Given the description of an element on the screen output the (x, y) to click on. 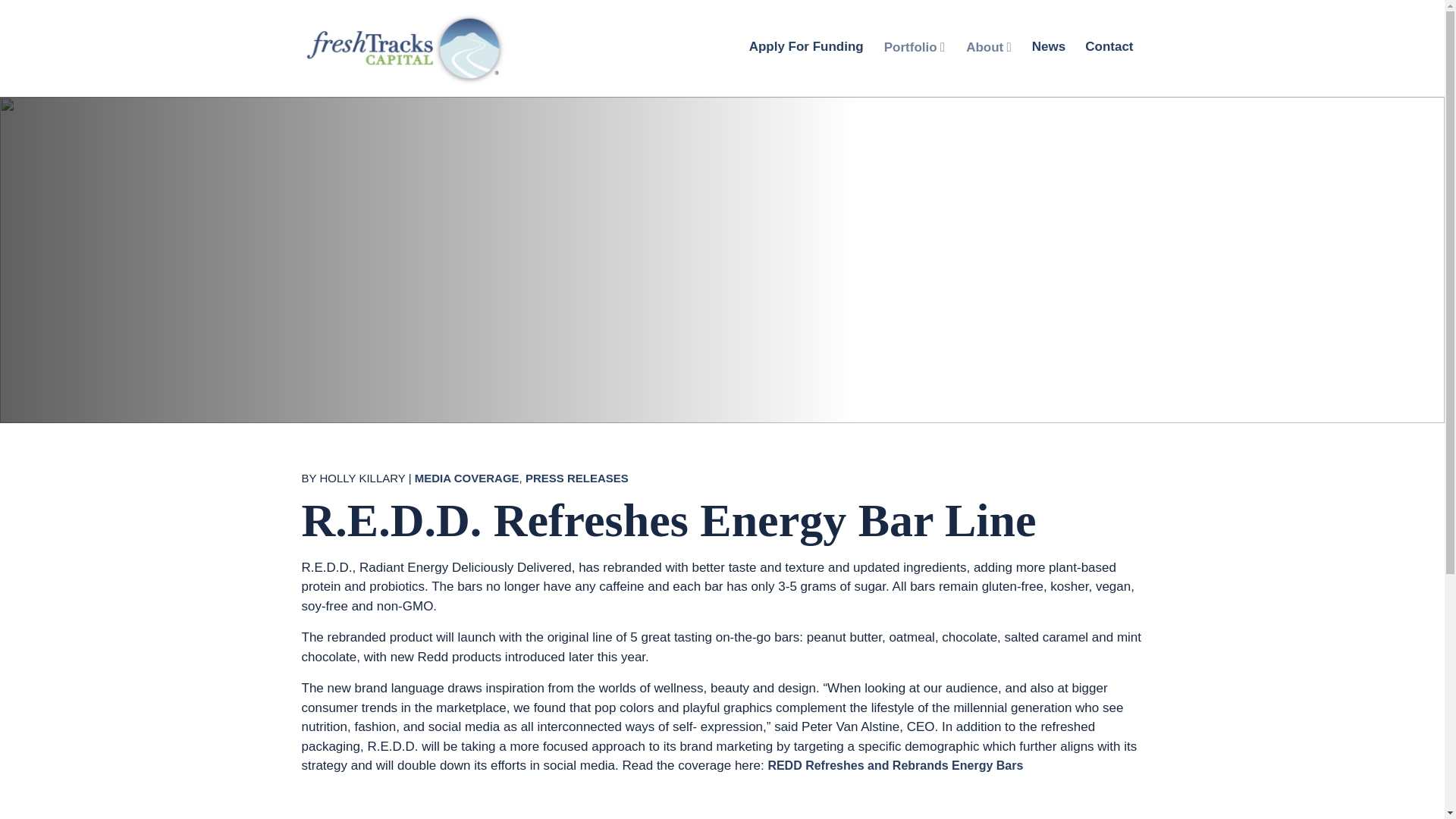
R.E.D.D. (330, 817)
About (988, 47)
Portfolio (913, 47)
Apply For Funding (806, 47)
Contact (1108, 47)
MEDIA COVERAGE (466, 478)
PRESS RELEASES (576, 478)
REDD Refreshes and Rebrands Energy Bars (895, 766)
About (988, 47)
Portfolio (913, 47)
Apply For Funding (806, 47)
News (1048, 47)
